Given the description of an element on the screen output the (x, y) to click on. 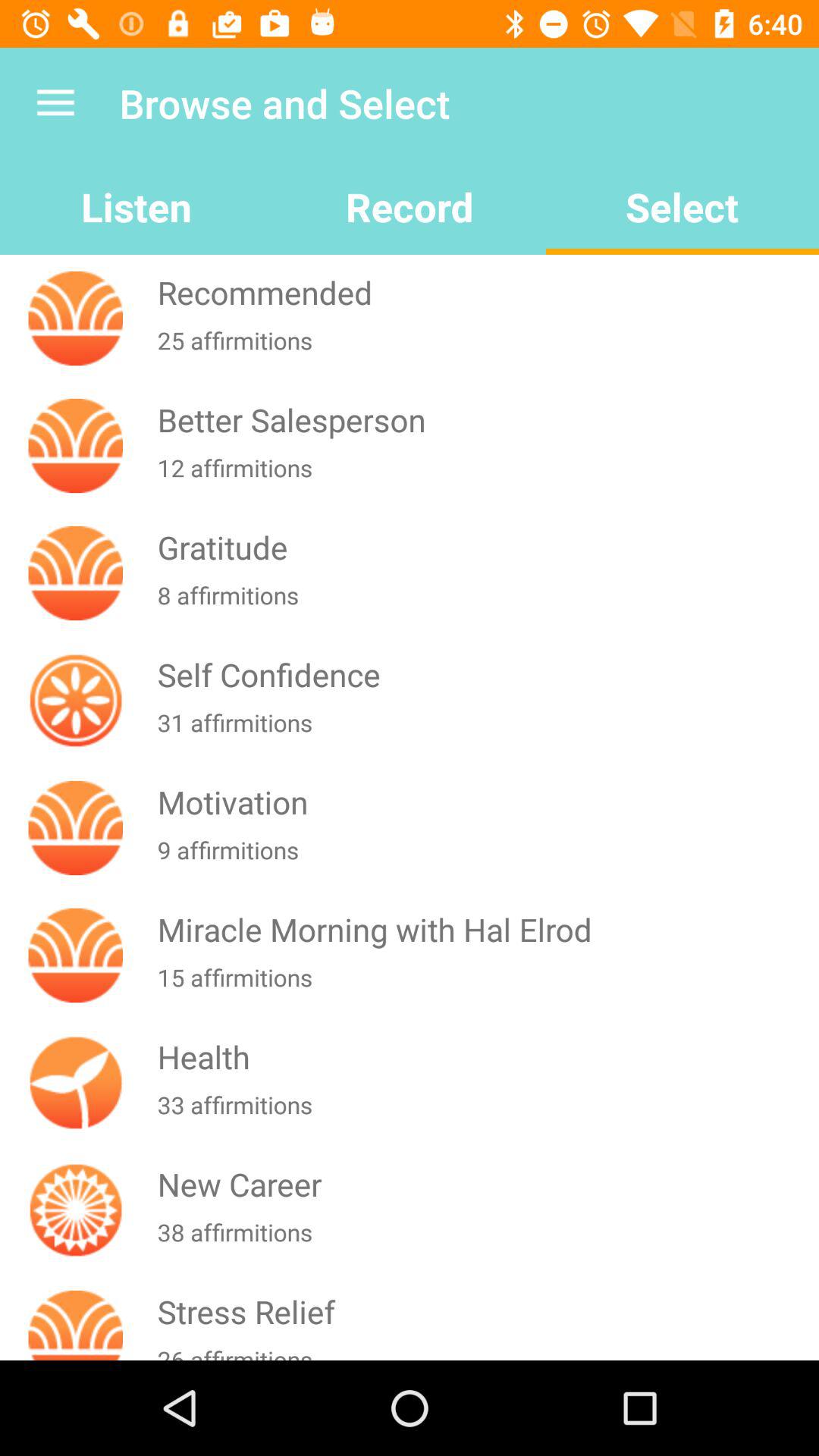
turn on the item above the 12 affirmitions icon (484, 419)
